Given the description of an element on the screen output the (x, y) to click on. 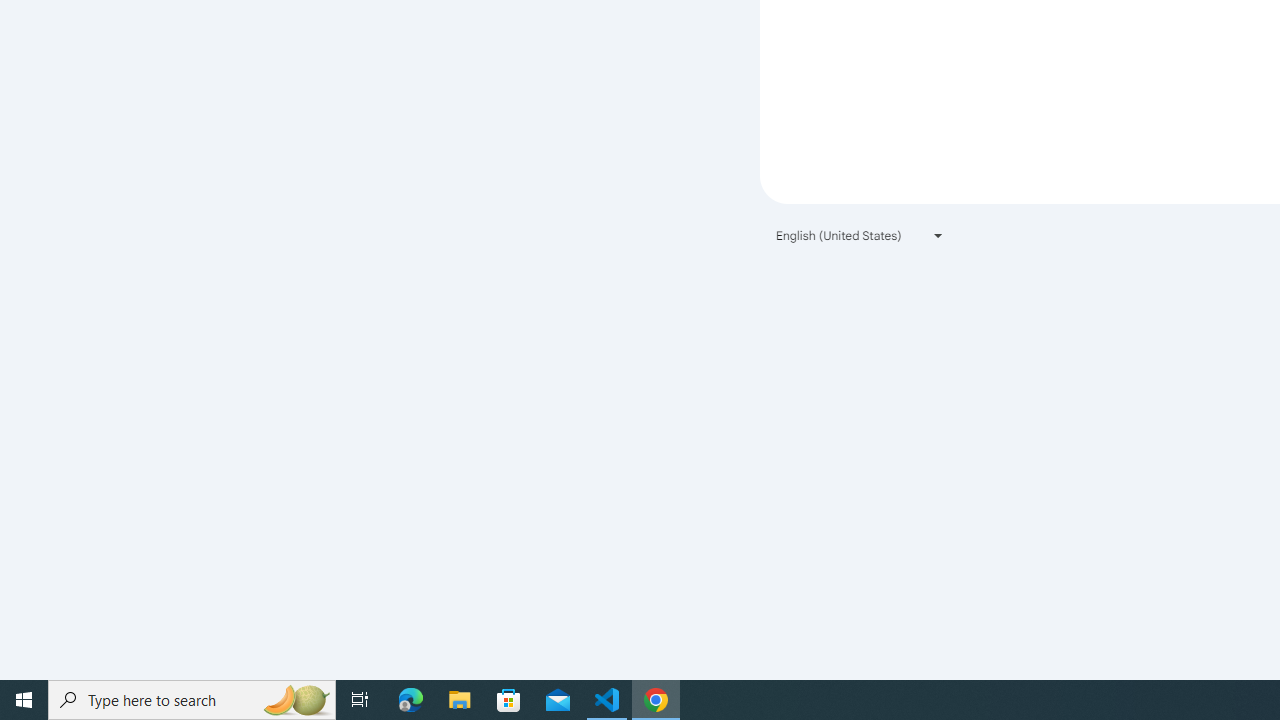
English (United States) (860, 234)
